Given the description of an element on the screen output the (x, y) to click on. 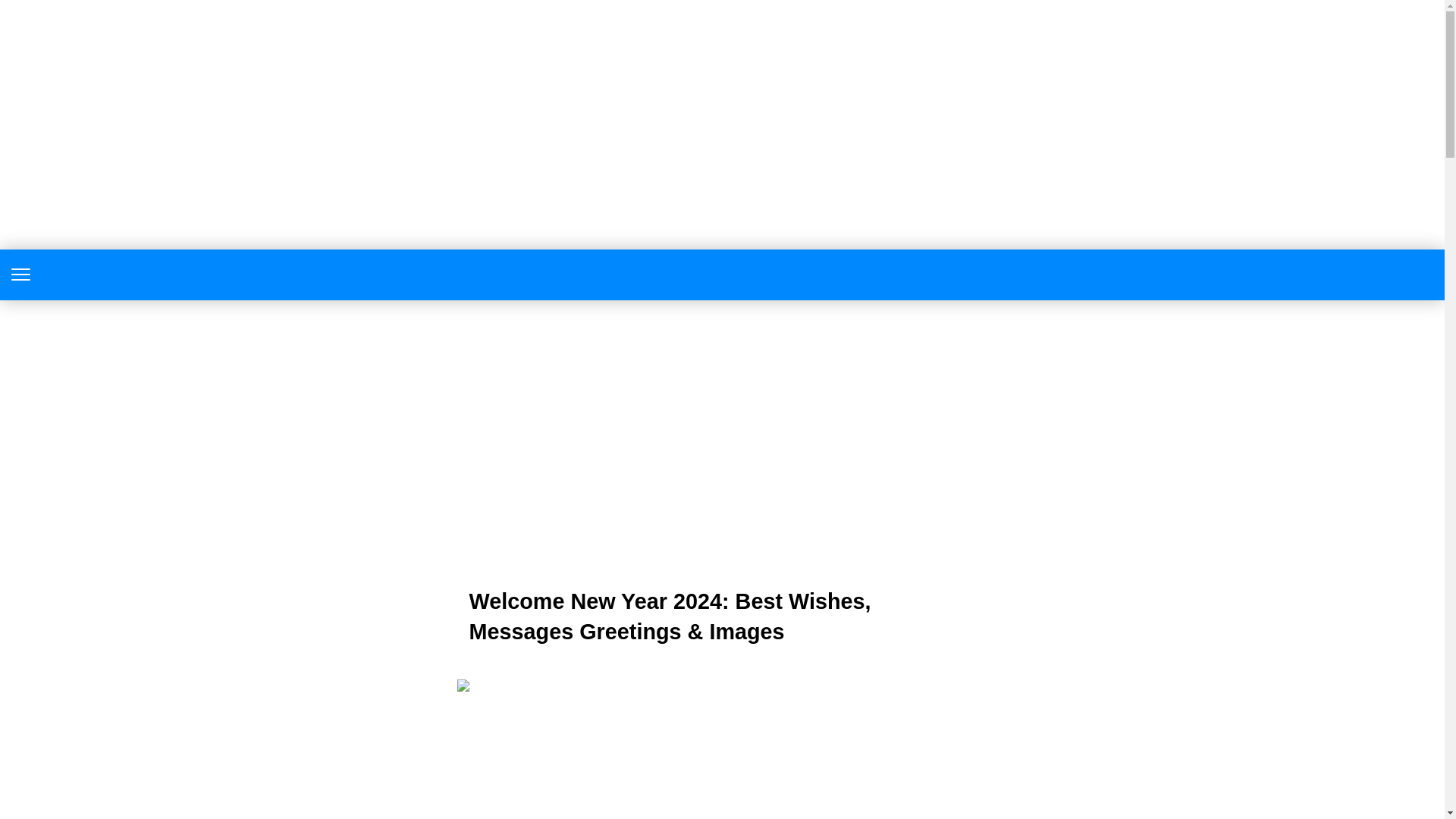
The Star Info (721, 274)
